Given the description of an element on the screen output the (x, y) to click on. 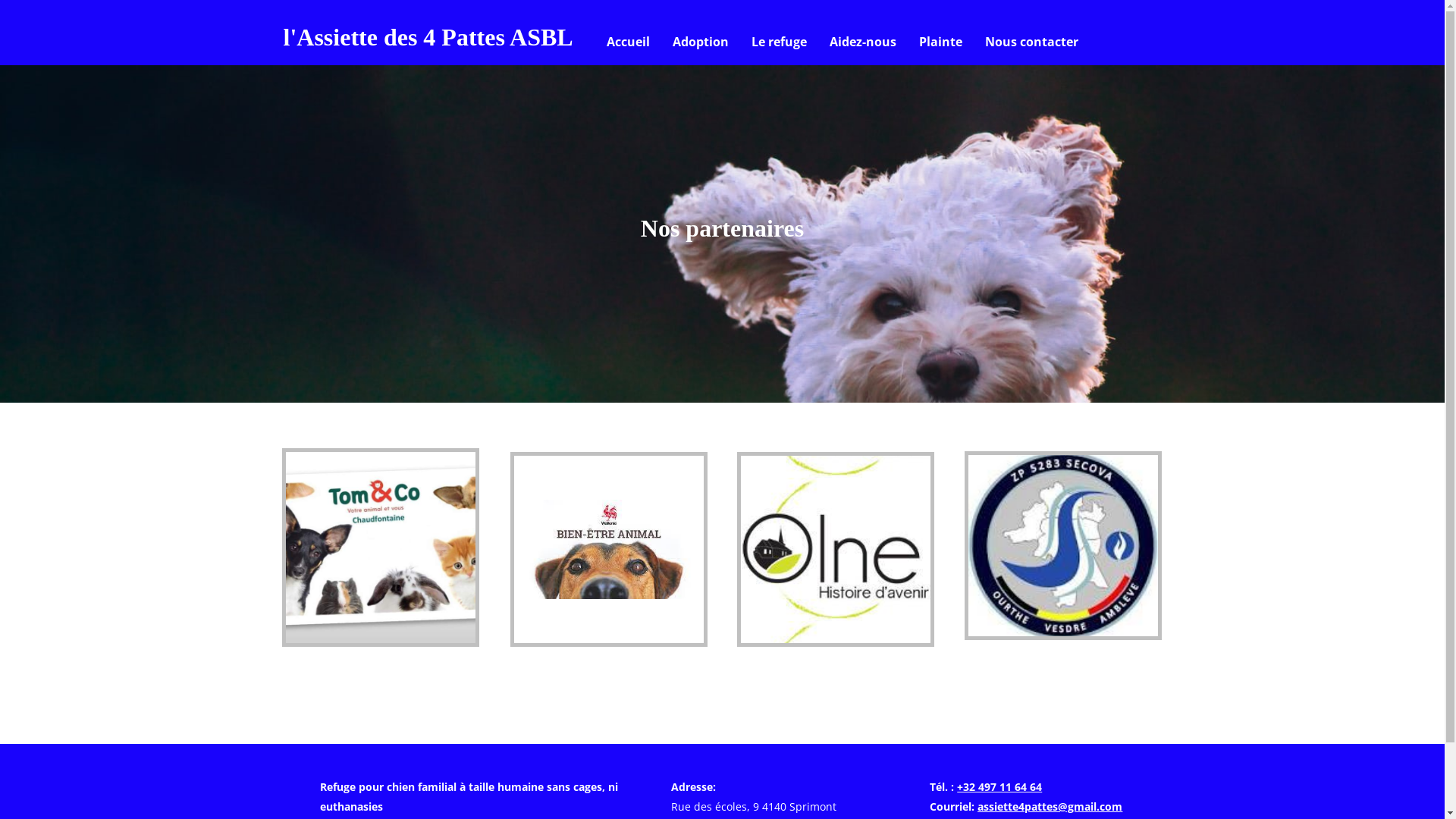
assiette4pattes@gmail.com Element type: text (1049, 806)
Nous contacter Element type: text (1031, 41)
Accueil Element type: text (628, 41)
Le refuge Element type: text (778, 41)
+32 497 11 64 64 Element type: text (999, 786)
Adoption Element type: text (700, 41)
Aidez-nous Element type: text (862, 41)
Plainte Element type: text (940, 41)
